Given the description of an element on the screen output the (x, y) to click on. 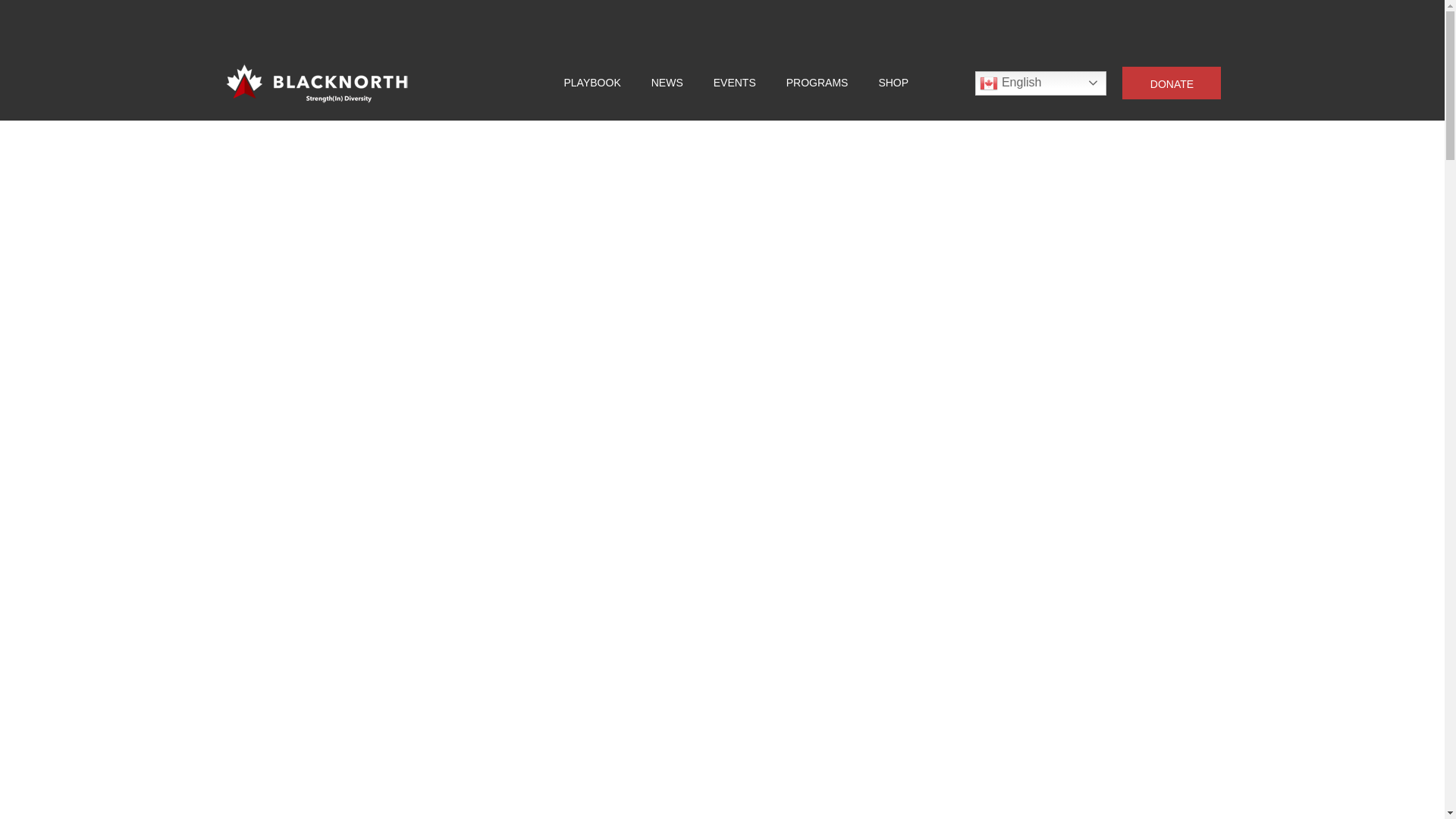
English (1040, 83)
EVENTS (734, 82)
DONATE (1171, 82)
PLAYBOOK (592, 82)
SHOP (892, 82)
PROGRAMS (817, 82)
NEWS (666, 82)
